Given the description of an element on the screen output the (x, y) to click on. 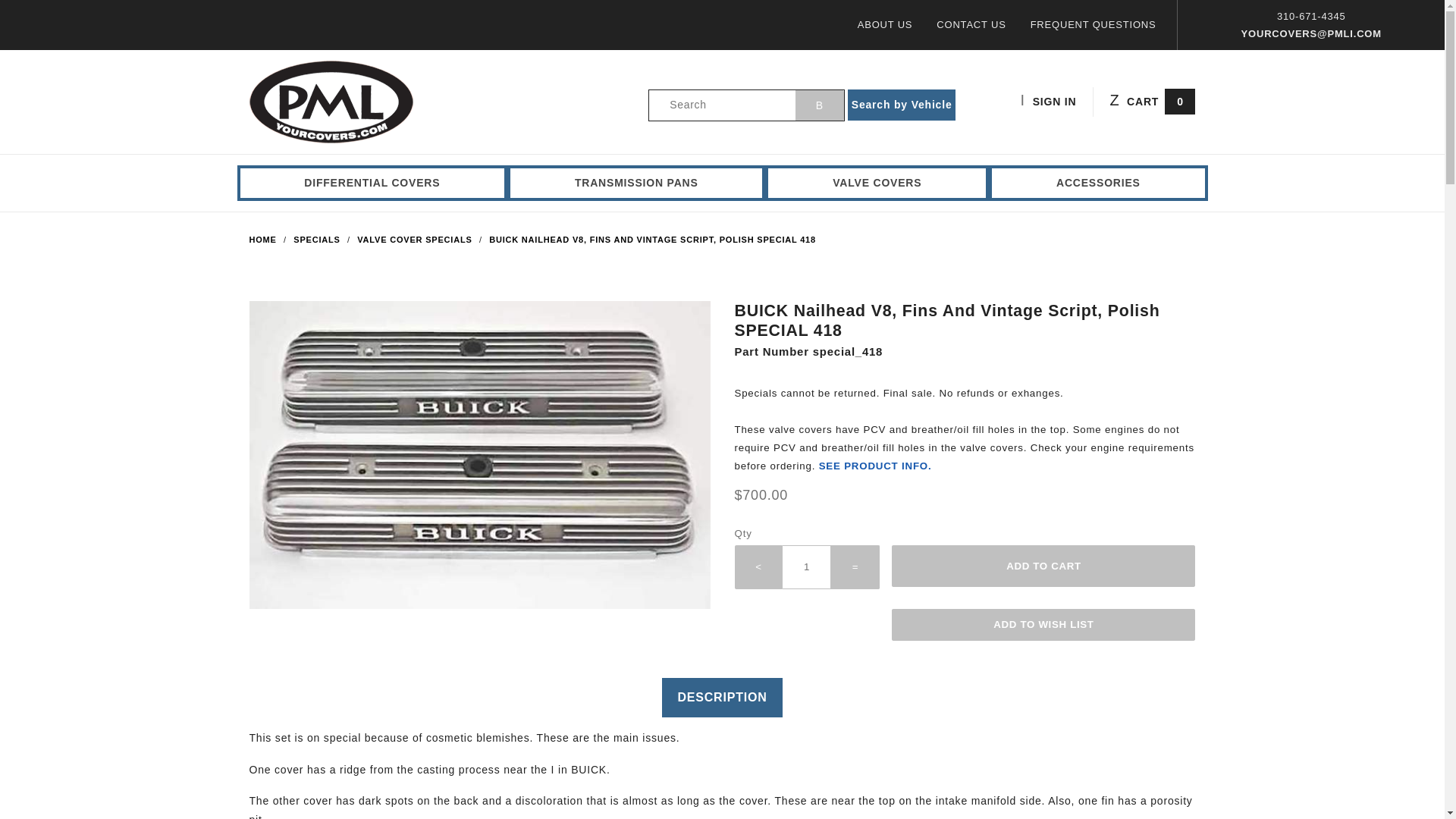
Valve Cover Specials (415, 239)
Sign In (1071, 175)
Add to Wish List (1043, 624)
DIFFERENTIAL COVERS (370, 182)
HOME (263, 239)
FREQUENT QUESTIONS (1093, 24)
SEE PRODUCT INFO. (874, 465)
VALVE COVER SPECIALS (415, 239)
Frequent Questions (1093, 24)
VALVE COVERS (876, 182)
CONTACT US (971, 24)
Add To Cart (1043, 566)
CART 0 (1152, 101)
